Given the description of an element on the screen output the (x, y) to click on. 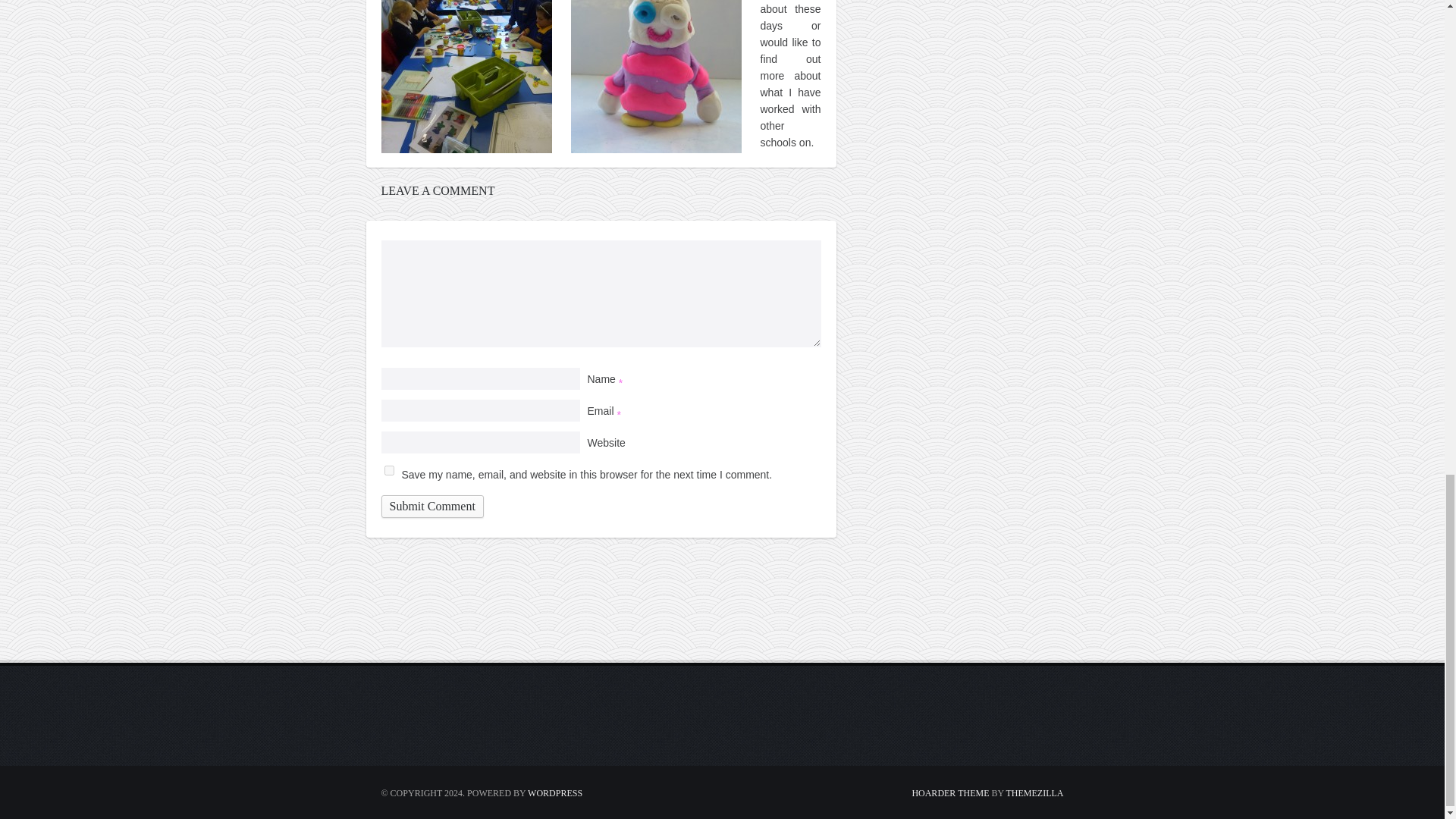
Submit Comment (431, 506)
yes (388, 470)
